Given the description of an element on the screen output the (x, y) to click on. 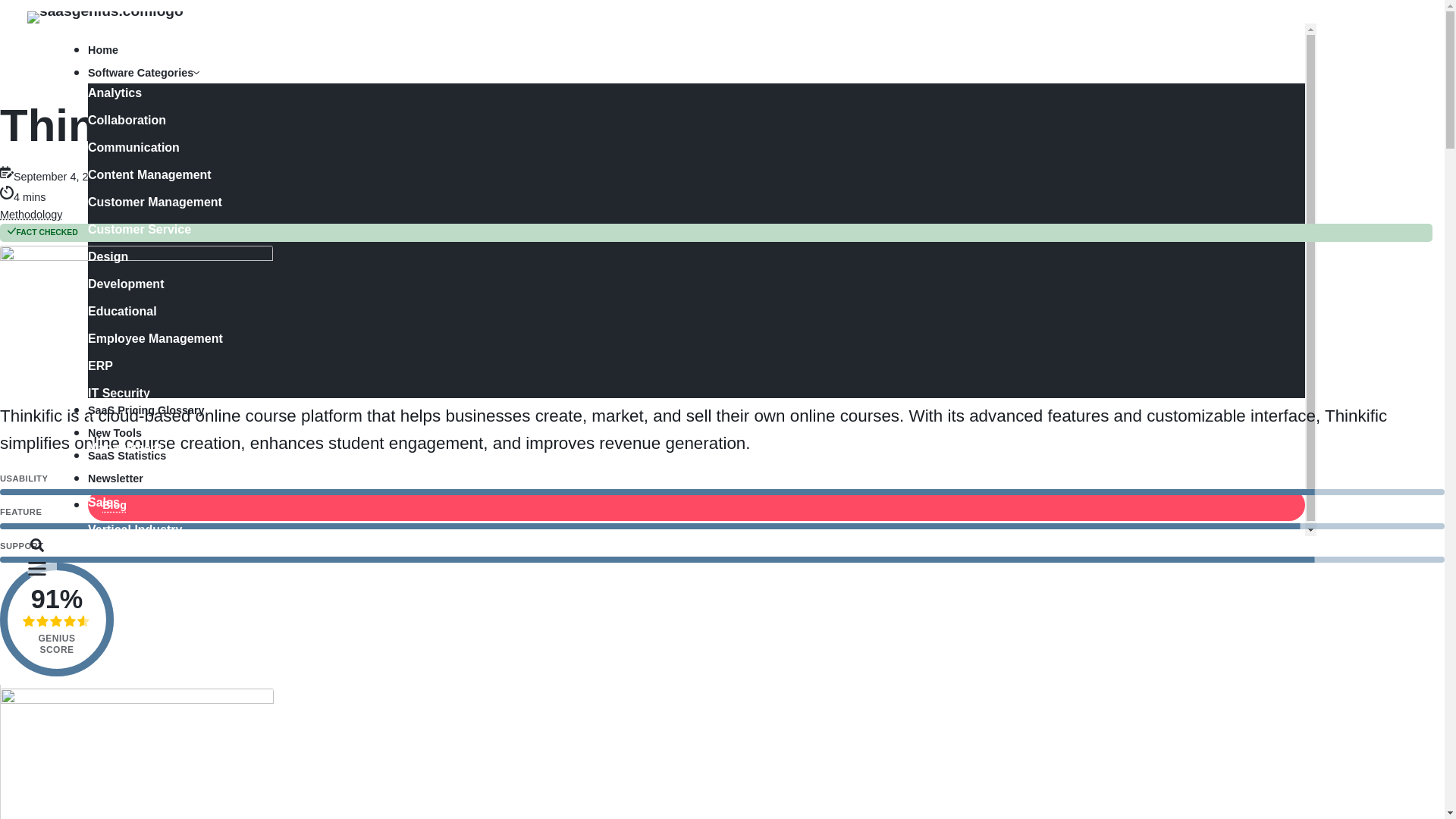
Analytics (665, 93)
Reading time (6, 192)
SaaS Pricing Glossary (687, 409)
ERP (665, 365)
Software Categories (143, 72)
IT Security (665, 393)
SaaS Statistics (687, 455)
Development (665, 284)
Newsletter (687, 477)
Customer Service (665, 229)
